Given the description of an element on the screen output the (x, y) to click on. 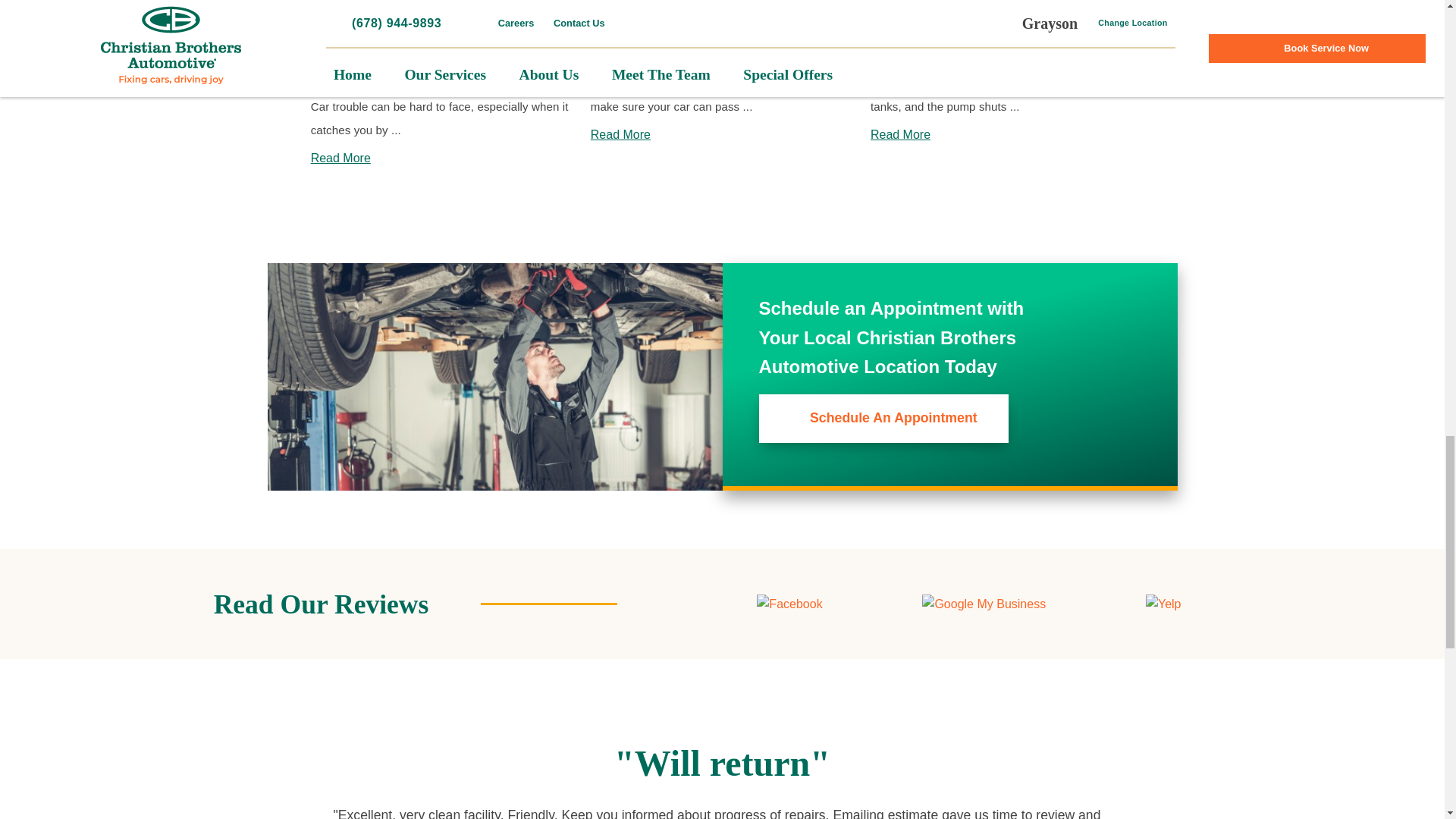
What is a Car Inspection? (722, 40)
Four Common Services Offered at Auto Repair Centers (442, 25)
Don't Top Off Your Gas Tank (1002, 27)
